Given the description of an element on the screen output the (x, y) to click on. 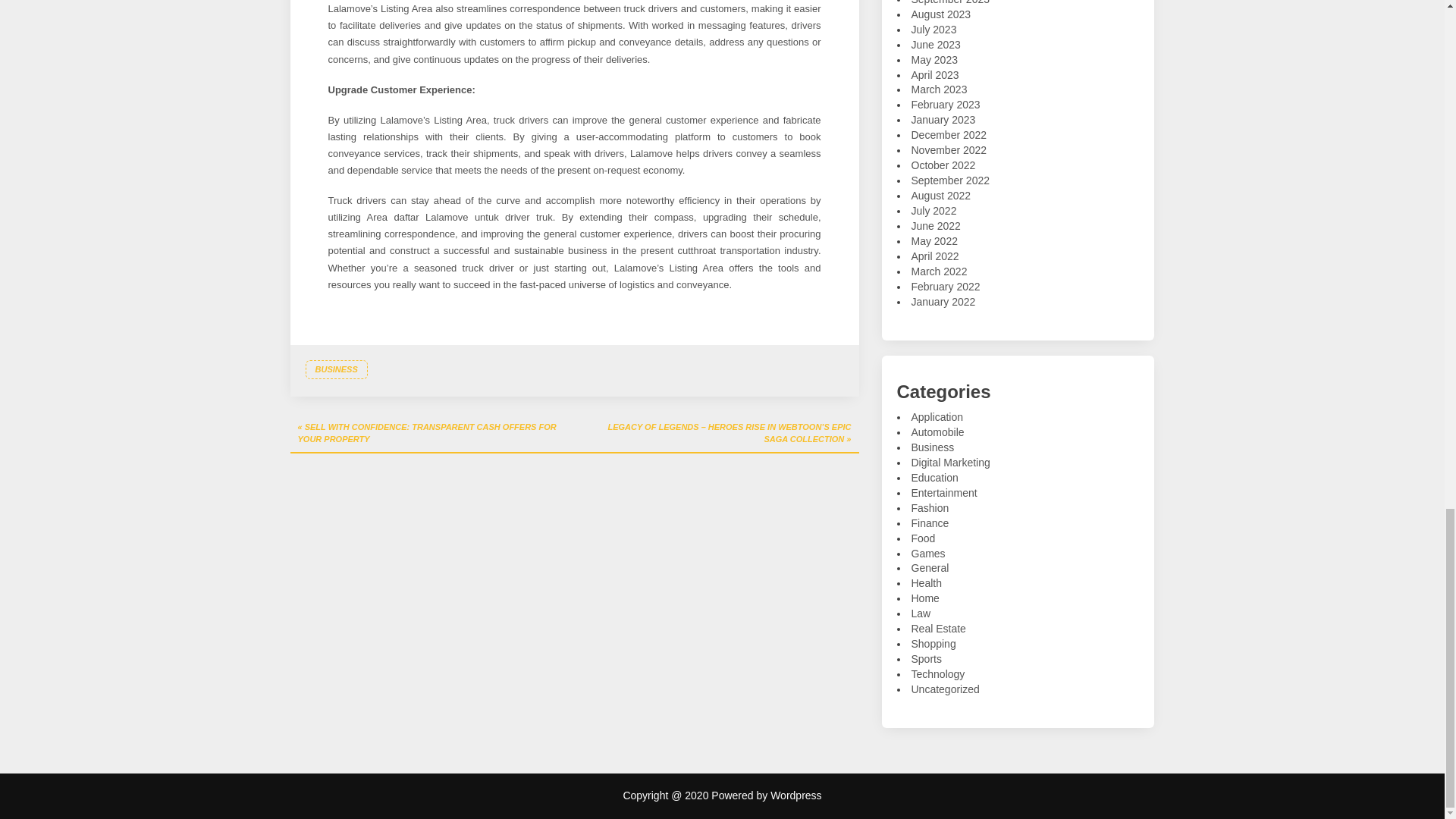
April 2023 (935, 74)
March 2023 (939, 89)
August 2023 (941, 14)
September 2023 (950, 2)
May 2023 (934, 60)
June 2023 (935, 44)
January 2023 (943, 119)
November 2022 (949, 150)
February 2023 (945, 104)
July 2023 (933, 29)
BUSINESS (335, 370)
December 2022 (949, 134)
